Given the description of an element on the screen output the (x, y) to click on. 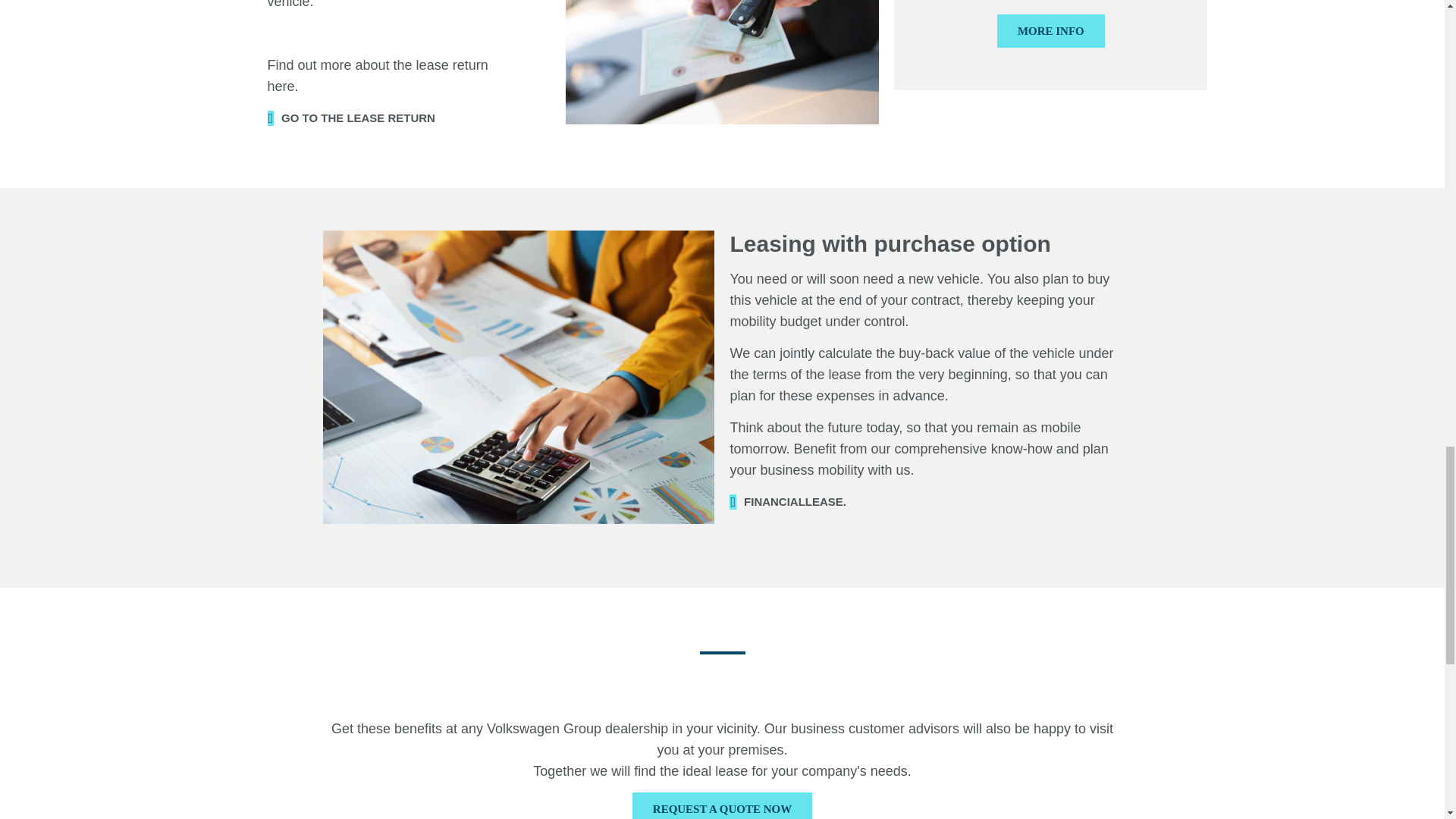
REQUEST A QUOTE NOW (721, 805)
MORE INFO (1051, 30)
FINANCIALLEASE. (787, 501)
GO TO THE LEASE RETURN (349, 117)
